Given the description of an element on the screen output the (x, y) to click on. 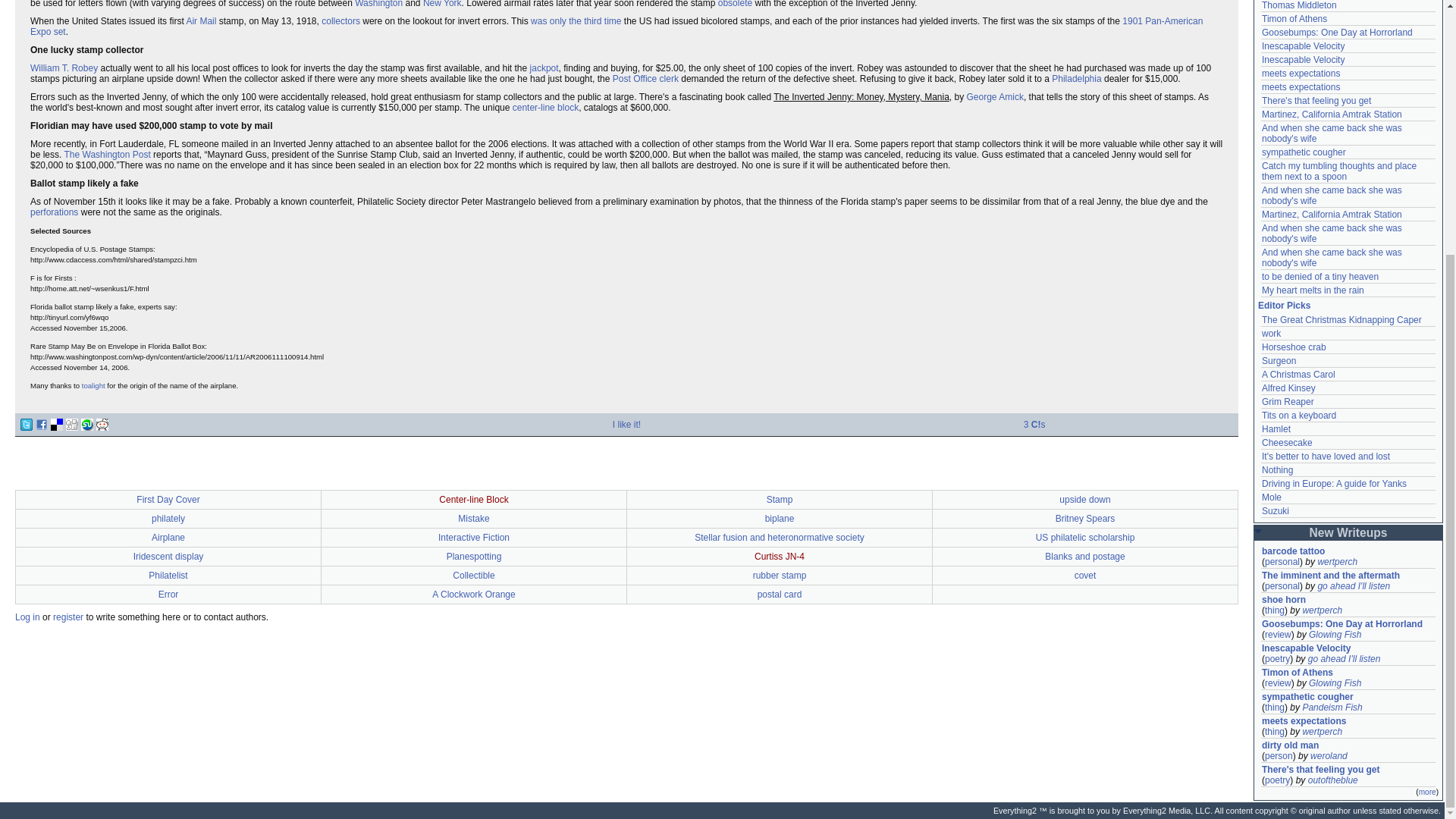
New York (442, 4)
Washington (379, 4)
William T. Robey (63, 68)
center-line block (545, 107)
jackpot (544, 68)
toalight (92, 385)
obsolete (734, 4)
Washington (379, 4)
The Washington Post (106, 154)
was only the third time (576, 20)
